Given the description of an element on the screen output the (x, y) to click on. 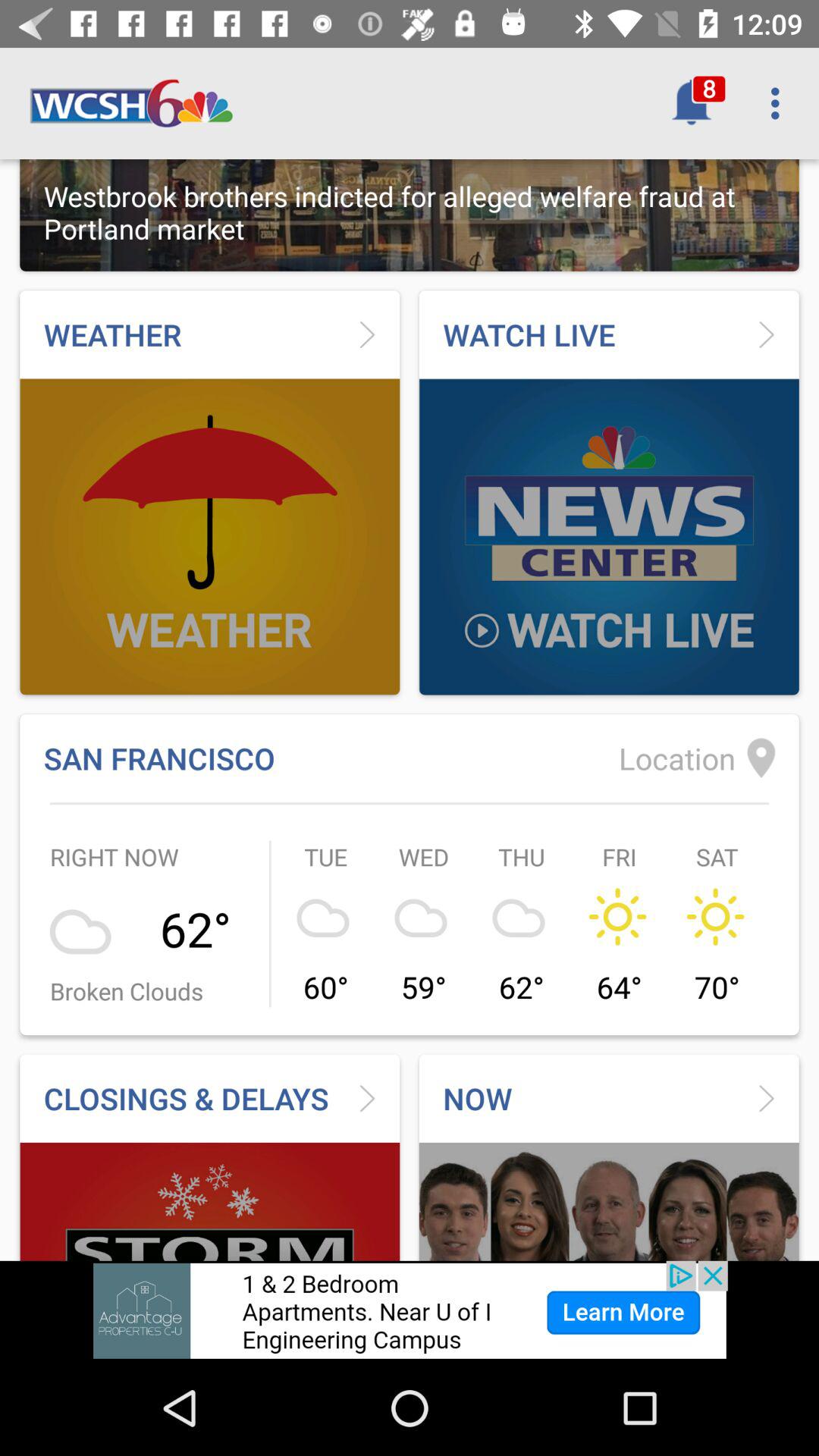
view advertisement (409, 1310)
